Given the description of an element on the screen output the (x, y) to click on. 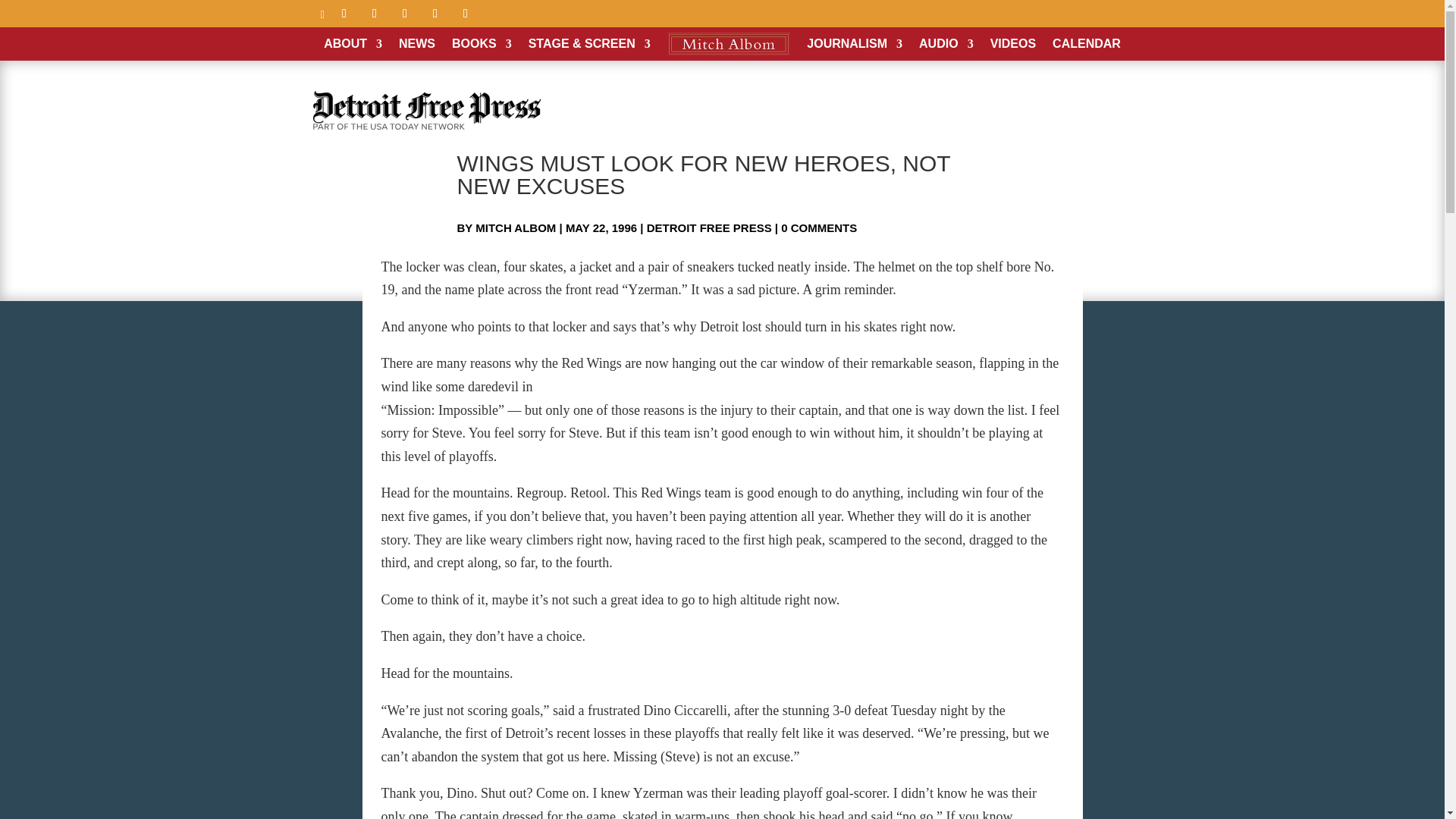
ABOUT (352, 43)
Follow on Instagram (404, 13)
Follow on Facebook (343, 13)
Follow on X (374, 13)
Posts by Mitch Albom (516, 227)
Follow on TikTok (464, 13)
BOOKS (481, 43)
NEWS (416, 43)
Follow on Youtube (434, 13)
